Given the description of an element on the screen output the (x, y) to click on. 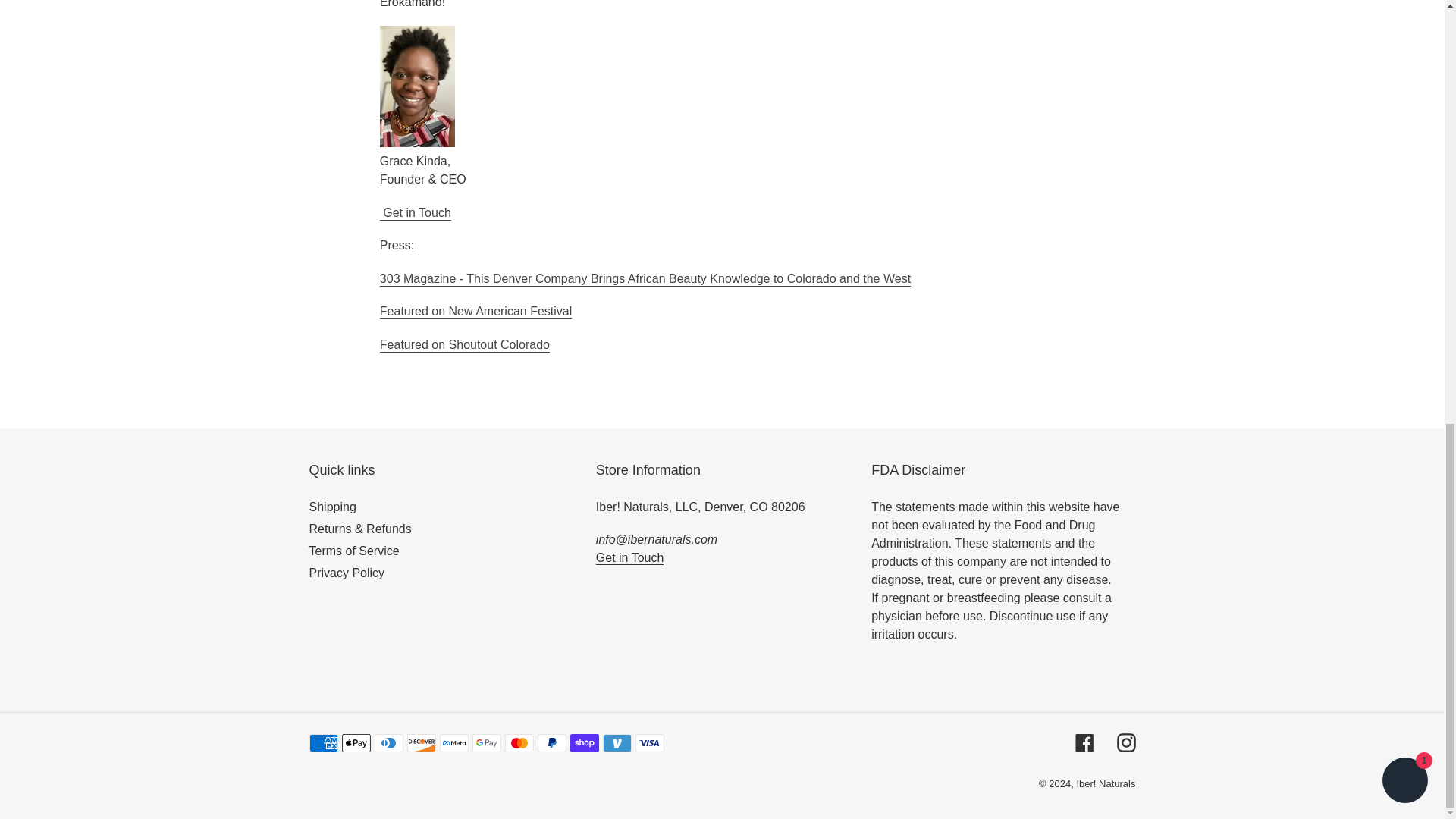
Featured on Shoutout Colorado (465, 345)
 Get in Touch (415, 213)
Get in Touch (629, 558)
Featured on New American Festival (476, 311)
